Given the description of an element on the screen output the (x, y) to click on. 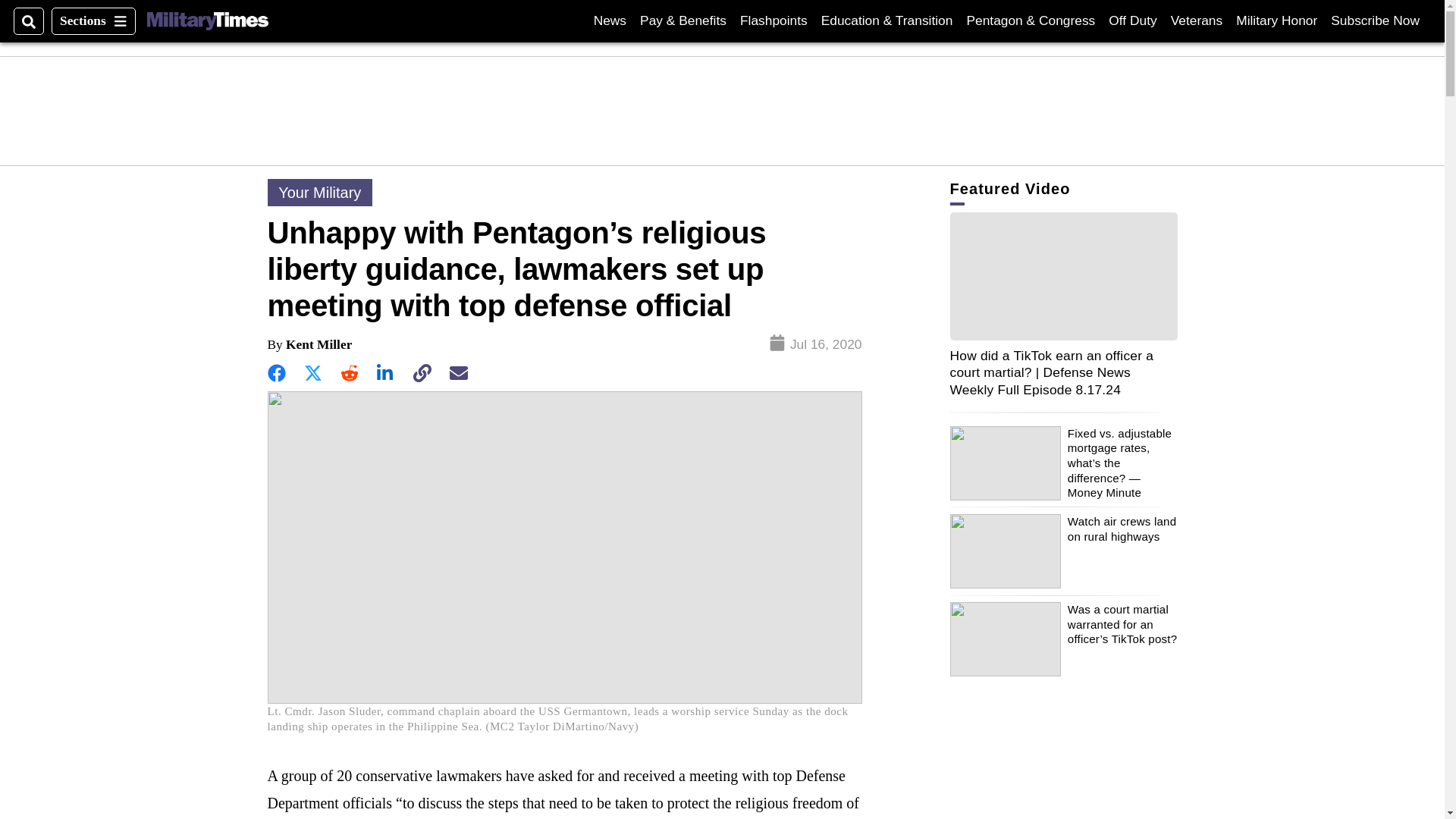
Flashpoints (773, 20)
News (610, 20)
Veterans (1374, 20)
Military Honor (1196, 20)
Military Times Logo (1276, 20)
Sections (207, 21)
Off Duty (92, 21)
